Given the description of an element on the screen output the (x, y) to click on. 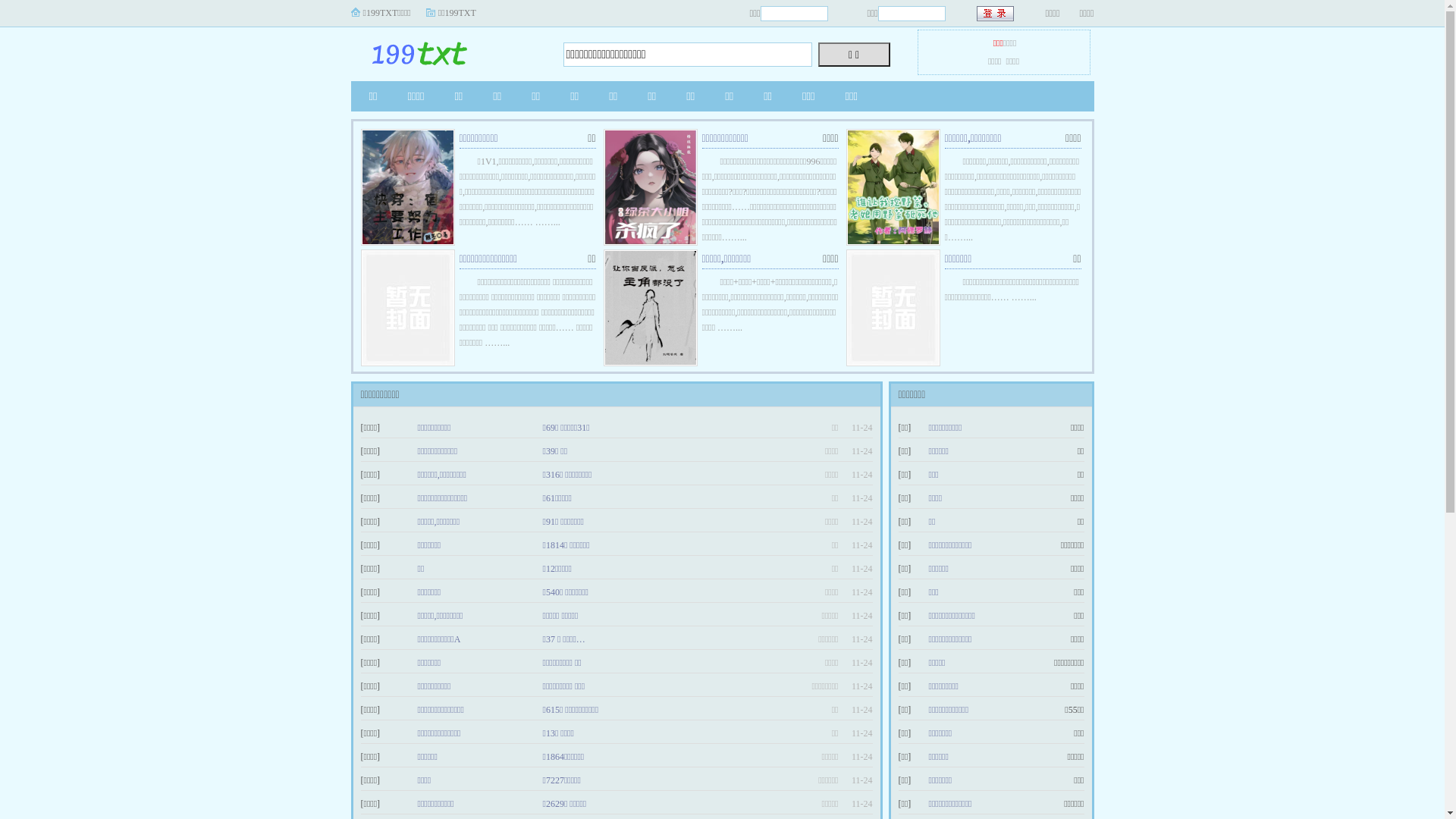
199TXT Element type: text (444, 49)
  Element type: text (995, 13)
